Given the description of an element on the screen output the (x, y) to click on. 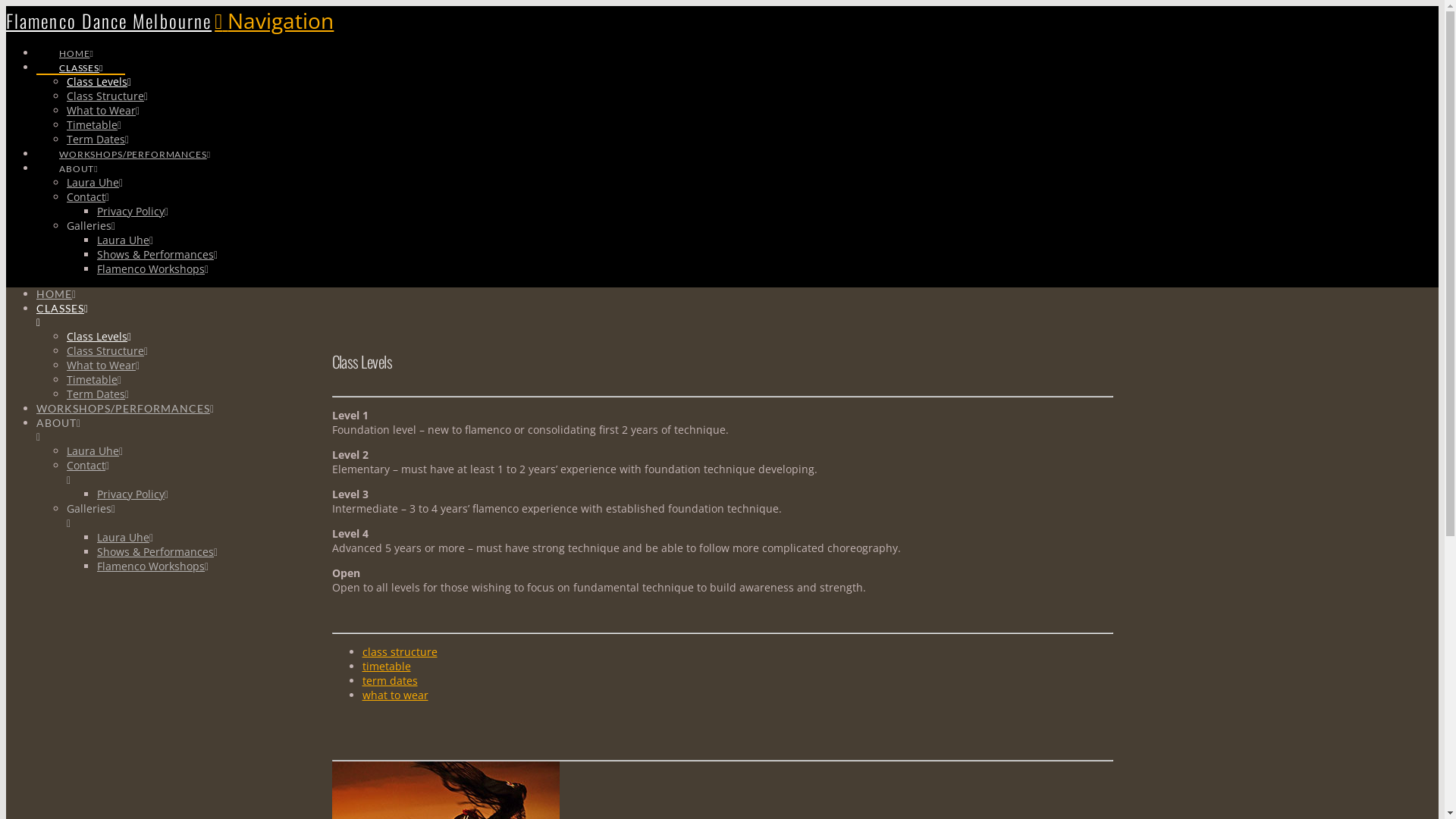
term dates Element type: text (389, 680)
Class Levels Element type: text (98, 81)
Laura Uhe Element type: text (125, 239)
Galleries Element type: text (426, 515)
Contact Element type: text (87, 196)
ABOUT Element type: text (411, 429)
What to Wear Element type: text (102, 110)
Term Dates Element type: text (97, 393)
HOME Element type: text (76, 45)
Privacy Policy Element type: text (132, 493)
Class Structure Element type: text (106, 350)
WORKSHOPS/PERFORMANCES Element type: text (134, 145)
Shows & Performances Element type: text (157, 551)
Class Structure Element type: text (106, 95)
Timetable Element type: text (93, 379)
Timetable Element type: text (93, 124)
HOME Element type: text (56, 293)
Contact Element type: text (426, 472)
ABOUT Element type: text (78, 160)
Laura Uhe Element type: text (94, 182)
timetable Element type: text (386, 665)
Flamenco Workshops Element type: text (152, 268)
What to Wear Element type: text (102, 364)
Laura Uhe Element type: text (125, 537)
Galleries Element type: text (90, 225)
Navigation Element type: text (273, 20)
CLASSES Element type: text (80, 59)
class structure Element type: text (399, 651)
Flamenco Dance Melbourne Element type: text (108, 20)
Class Levels Element type: text (98, 336)
Term Dates Element type: text (97, 138)
Flamenco Workshops Element type: text (152, 565)
WORKSHOPS/PERFORMANCES Element type: text (125, 407)
Shows & Performances Element type: text (157, 254)
what to wear Element type: text (395, 694)
CLASSES Element type: text (411, 315)
Privacy Policy Element type: text (132, 210)
Laura Uhe Element type: text (94, 450)
